Given the description of an element on the screen output the (x, y) to click on. 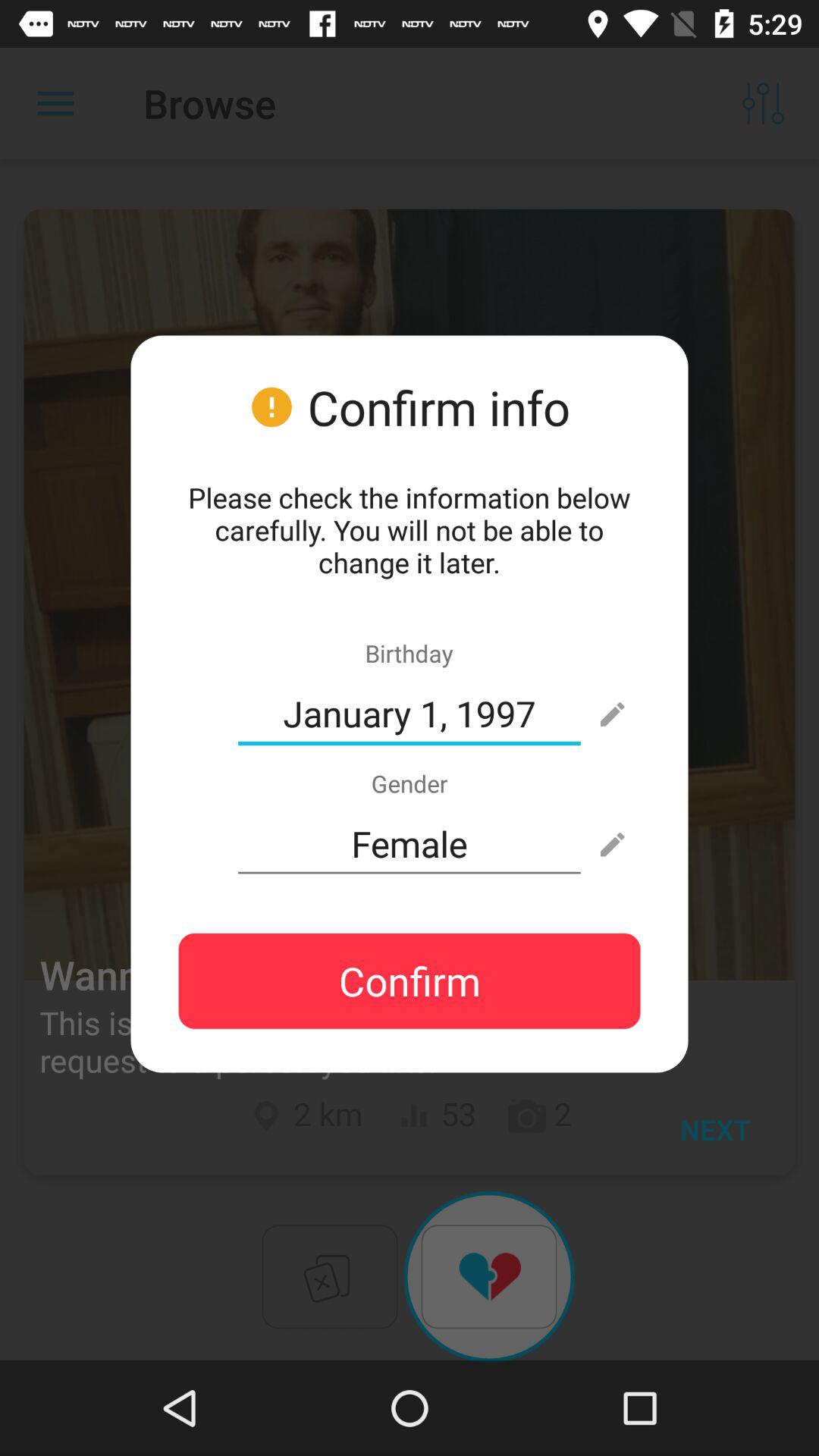
choose item above gender item (409, 714)
